Given the description of an element on the screen output the (x, y) to click on. 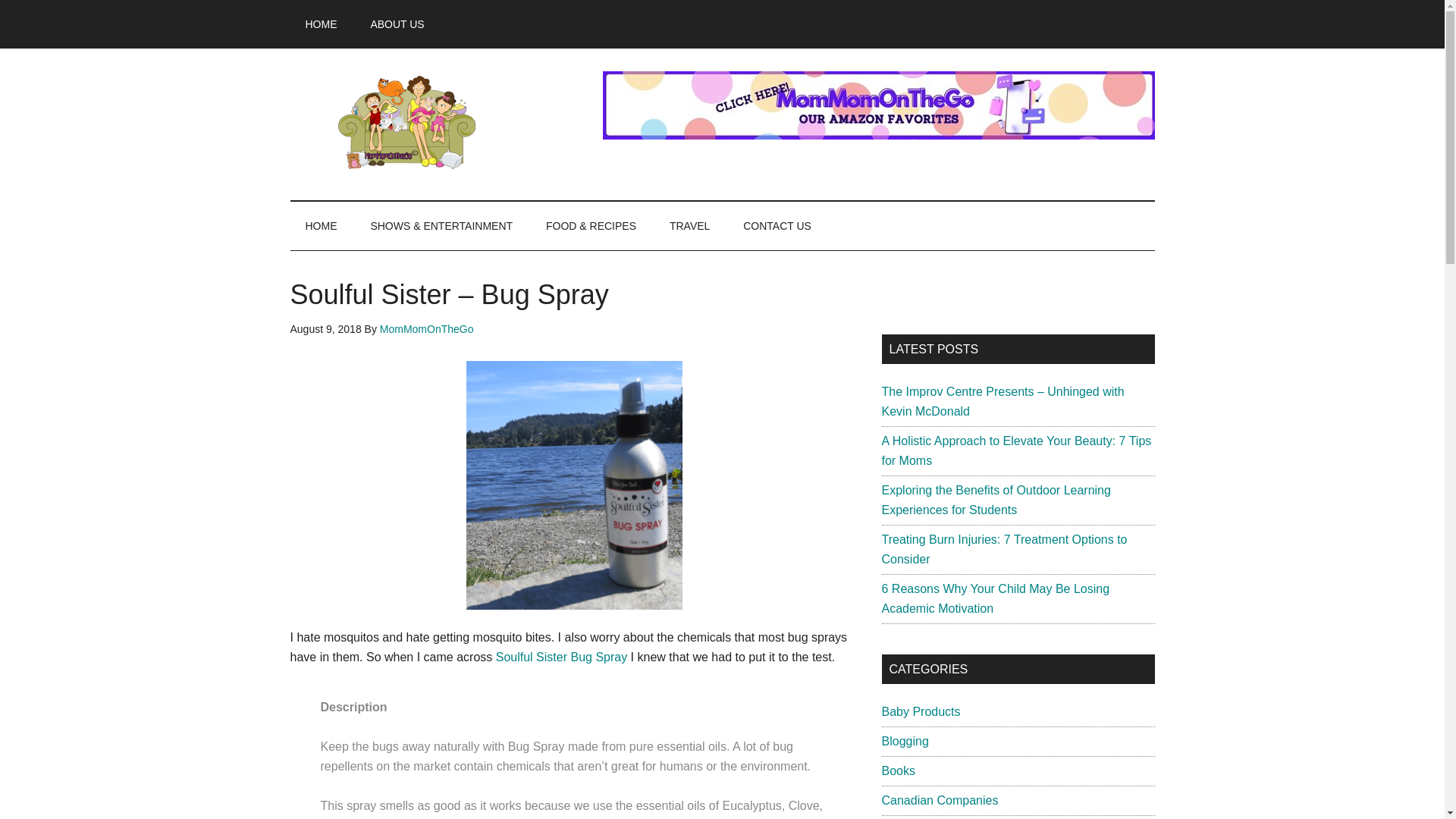
HOME (320, 24)
Soulful Sister Bug Spray (561, 656)
ABOUT US (397, 24)
HOME (320, 225)
CONTACT US (777, 225)
TRAVEL (689, 225)
MomMomOnTheGo (427, 328)
